Given the description of an element on the screen output the (x, y) to click on. 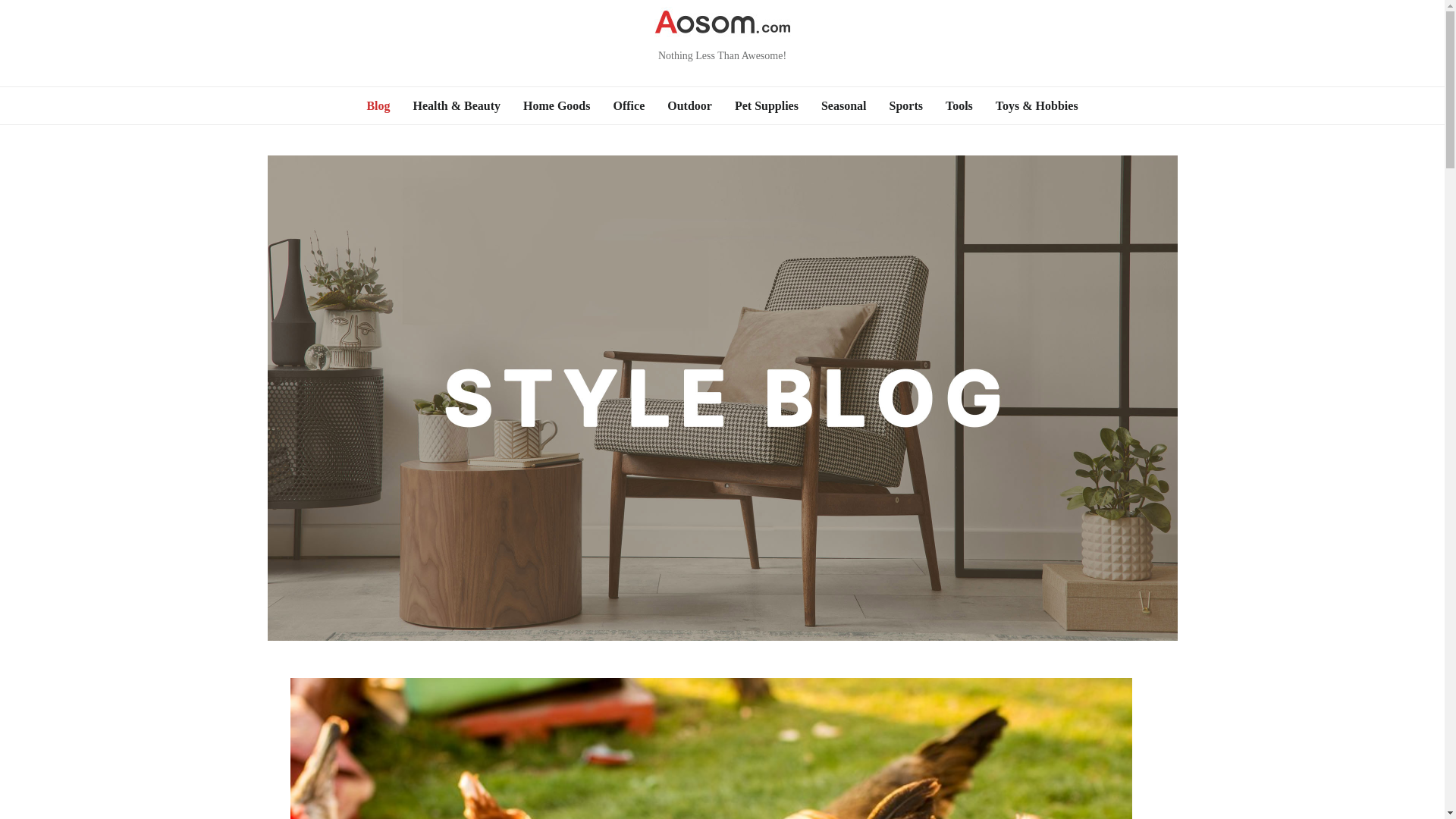
Home Goods (556, 105)
Office (629, 105)
Blog (378, 105)
Outdoor (689, 105)
